Given the description of an element on the screen output the (x, y) to click on. 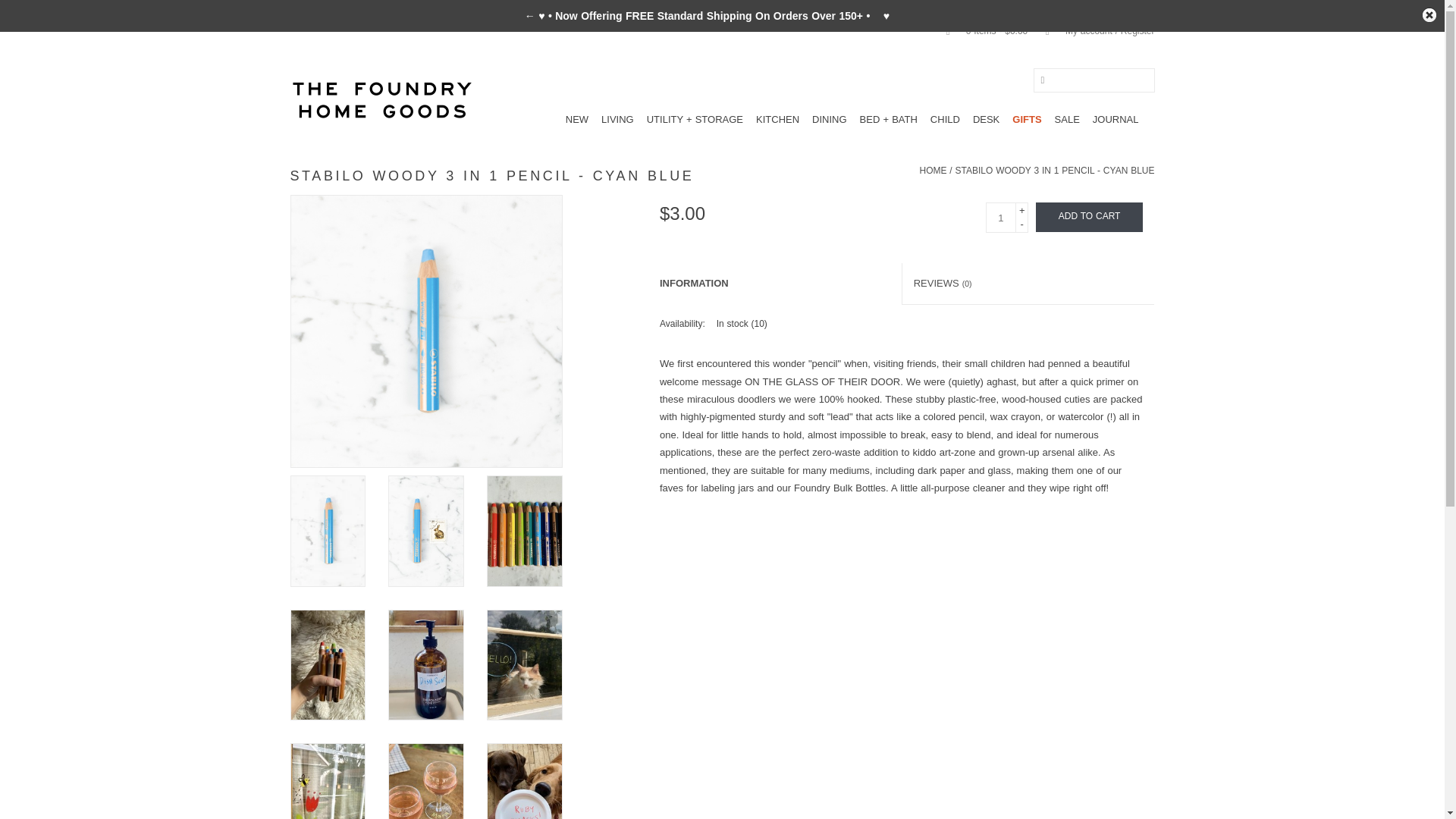
My account (1092, 30)
1 (1000, 217)
LIVING (617, 119)
Cart (980, 30)
New  (576, 119)
LIVING (617, 119)
NEW (576, 119)
